Given the description of an element on the screen output the (x, y) to click on. 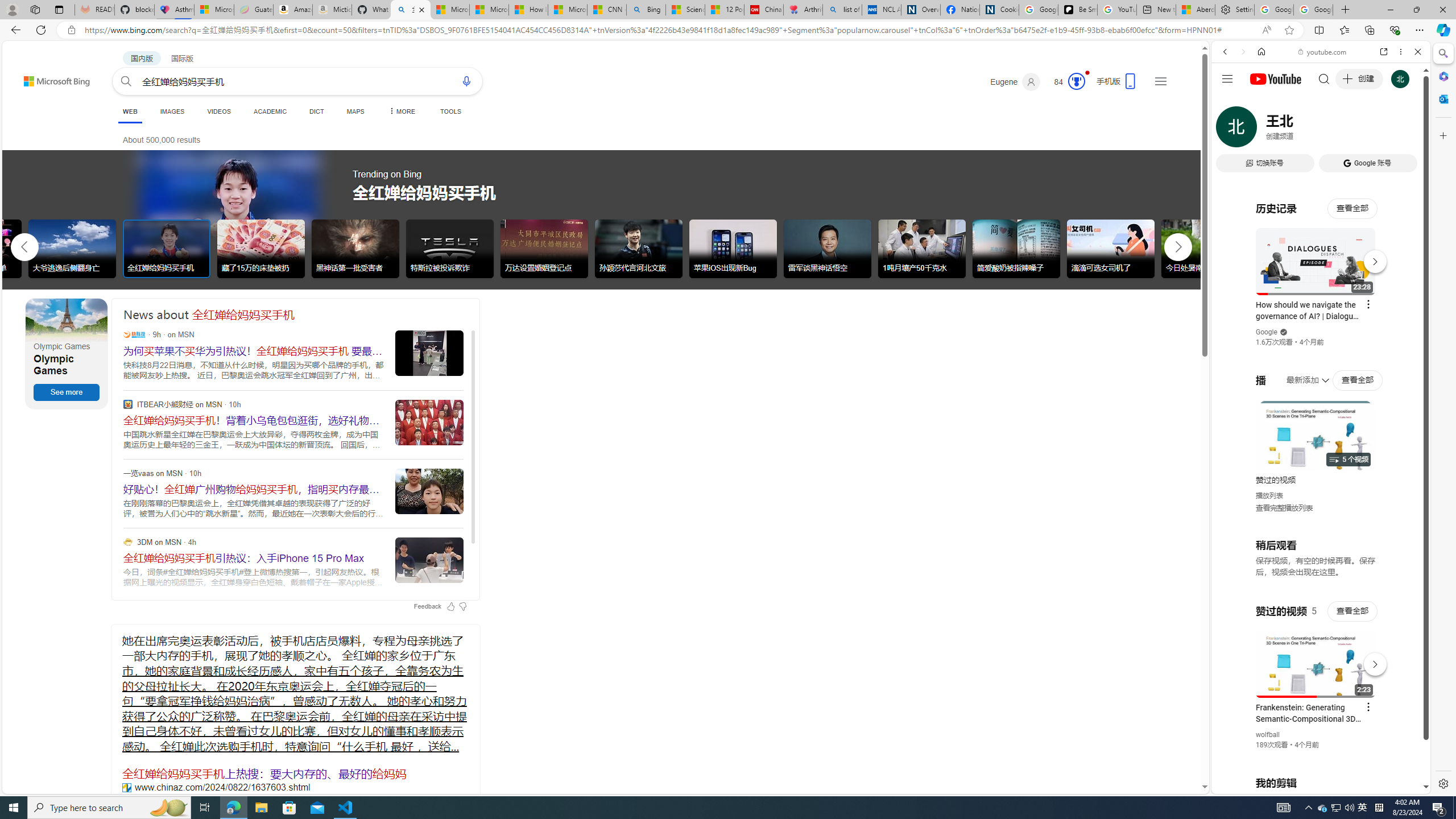
ACADEMIC (269, 111)
Eugene (1015, 81)
#you (1315, 659)
3DM on MSN (127, 541)
Google (1266, 331)
Class: b_serphb (1404, 130)
